Given the description of an element on the screen output the (x, y) to click on. 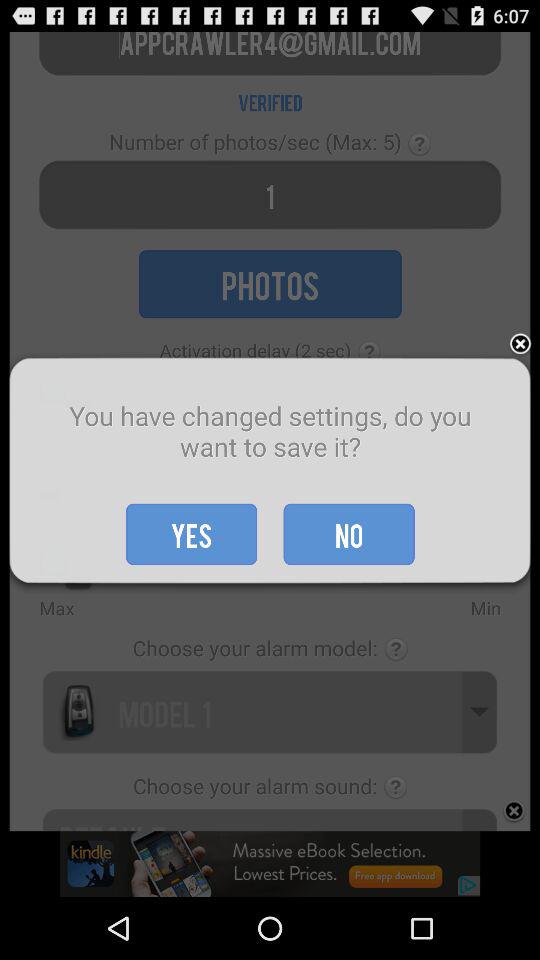
close tab (520, 344)
